Given the description of an element on the screen output the (x, y) to click on. 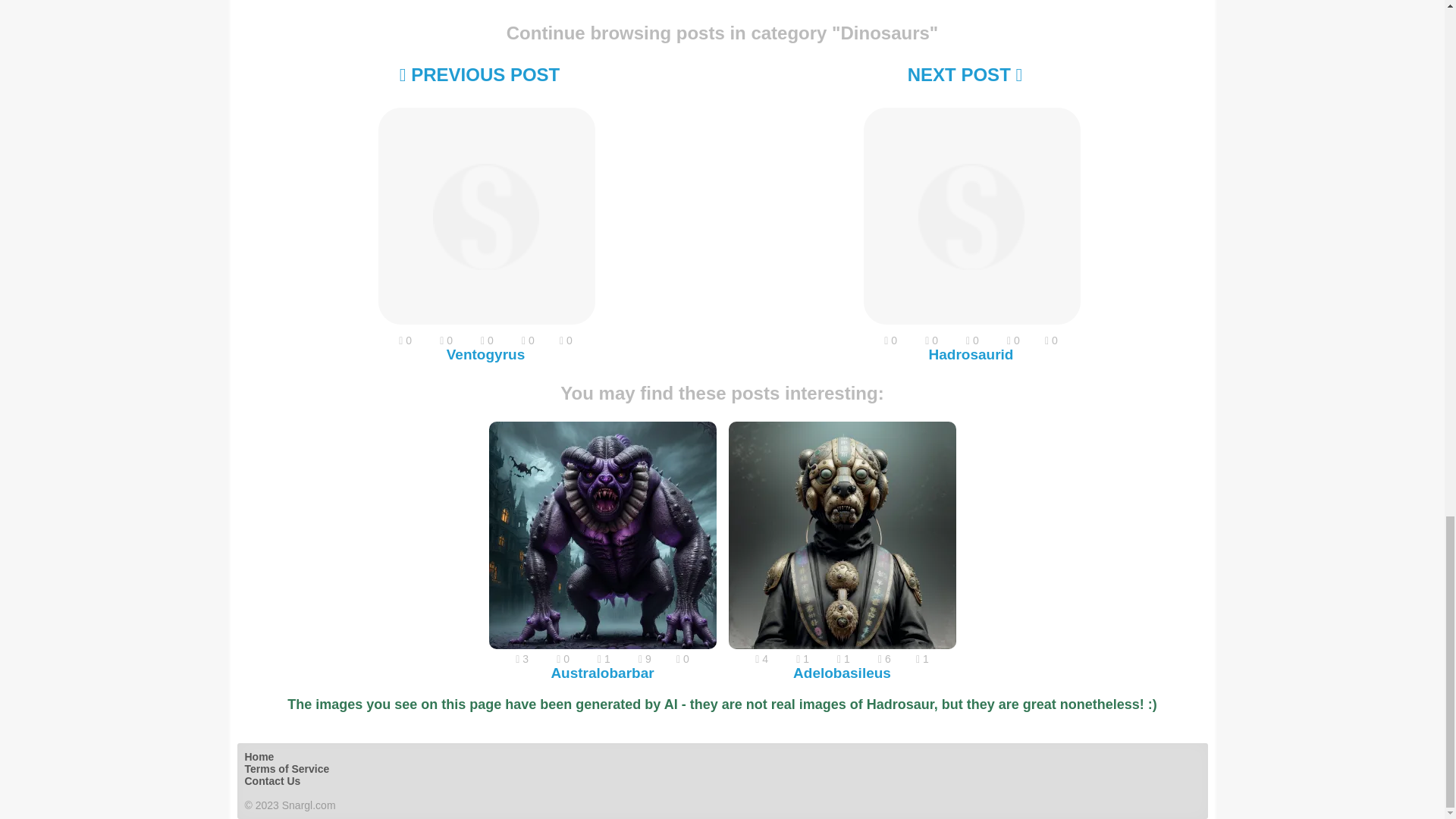
Australobarbar (601, 672)
PREVIOUS POST (478, 74)
Home (258, 756)
NEXT POST (964, 74)
Terms of Service (286, 768)
Adelobasileus (842, 672)
Australobarbar (601, 535)
Hadrosaurid (970, 354)
Hadrosaurid (970, 216)
Ventogyrus (485, 354)
Ventogyrus (484, 216)
Adelobasileus (841, 535)
Contact Us (271, 780)
